Given the description of an element on the screen output the (x, y) to click on. 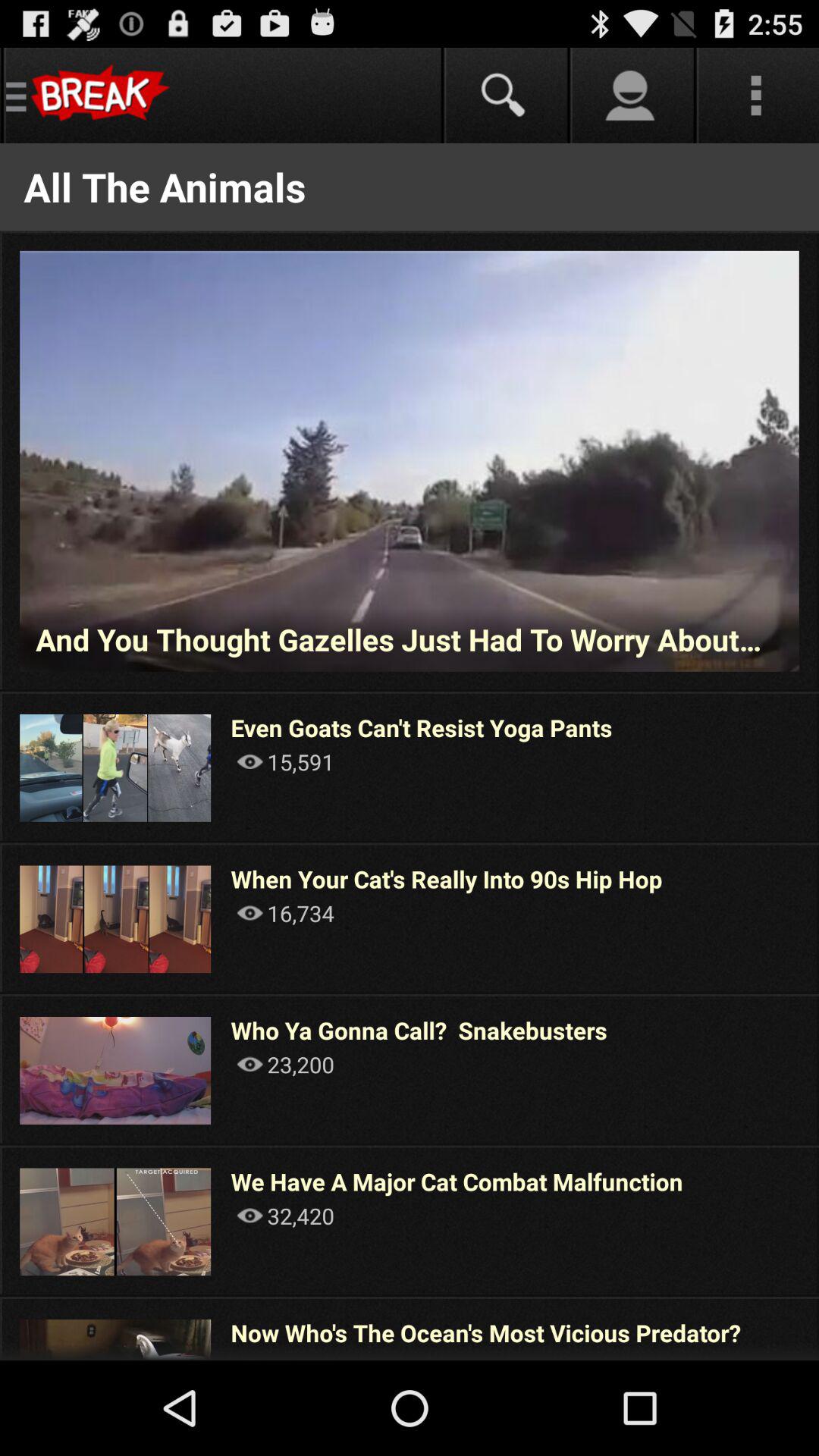
jump to 23,200 (285, 1064)
